Given the description of an element on the screen output the (x, y) to click on. 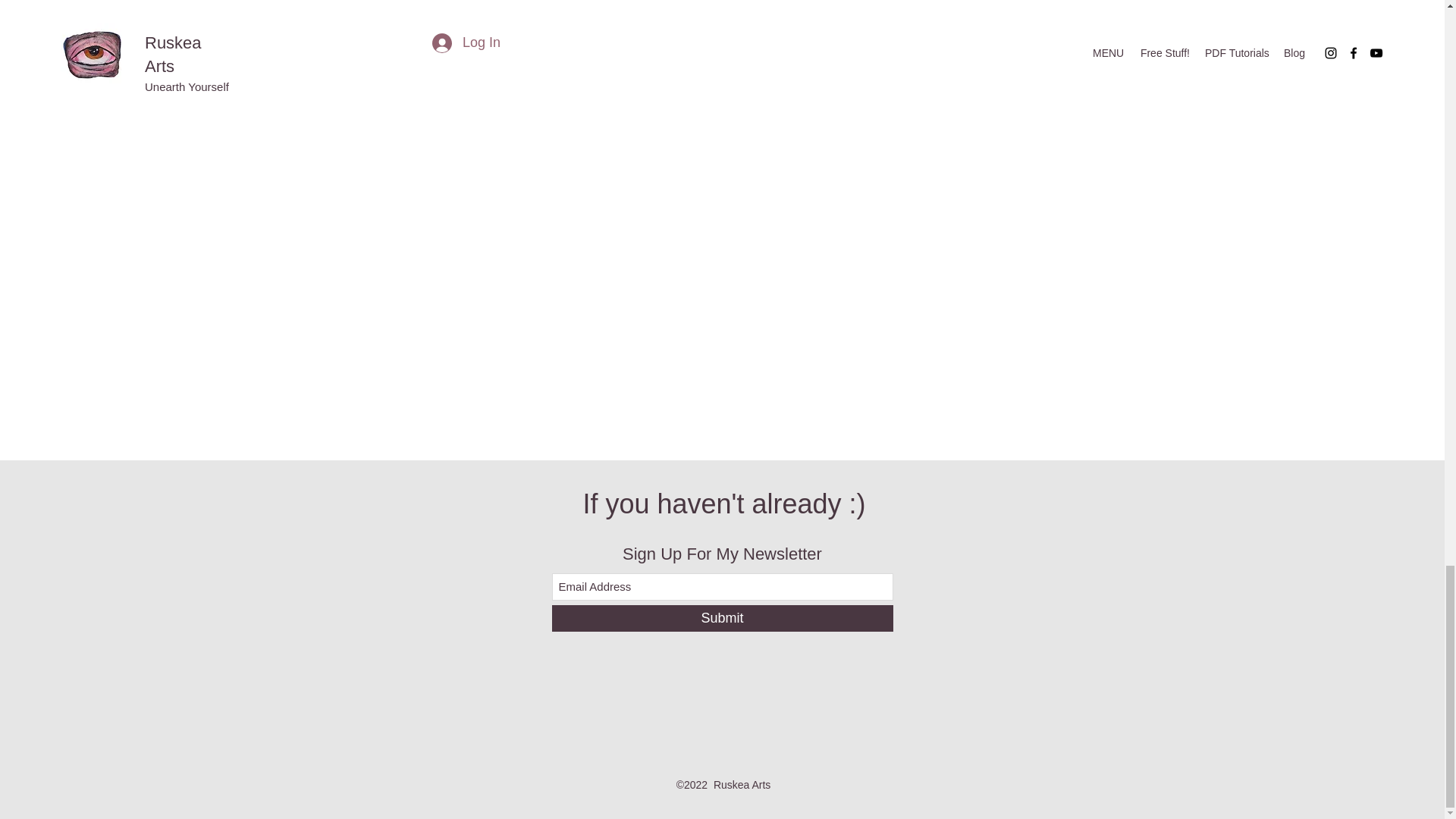
Submit (722, 618)
